Given the description of an element on the screen output the (x, y) to click on. 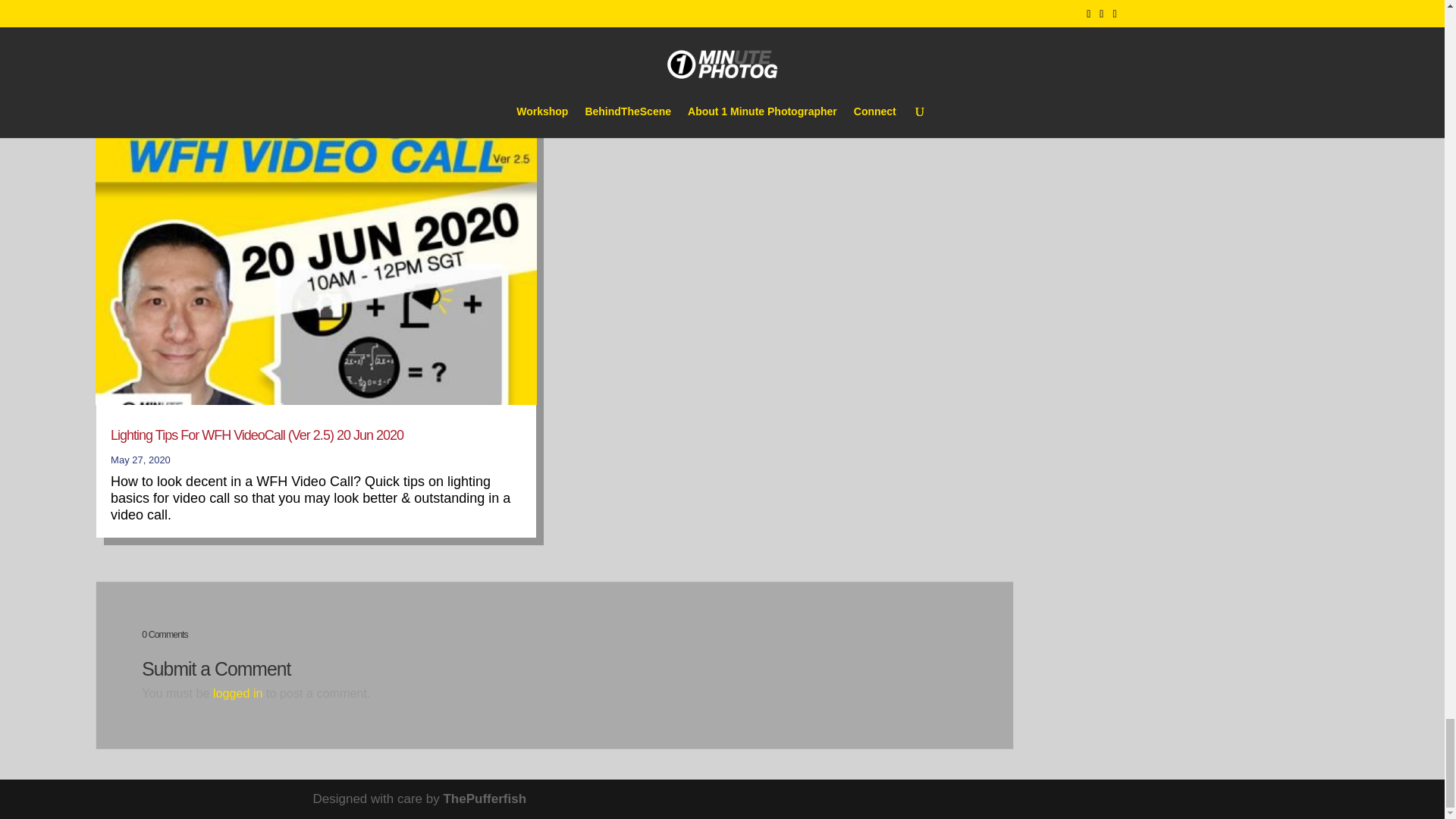
logged in (238, 693)
